Given the description of an element on the screen output the (x, y) to click on. 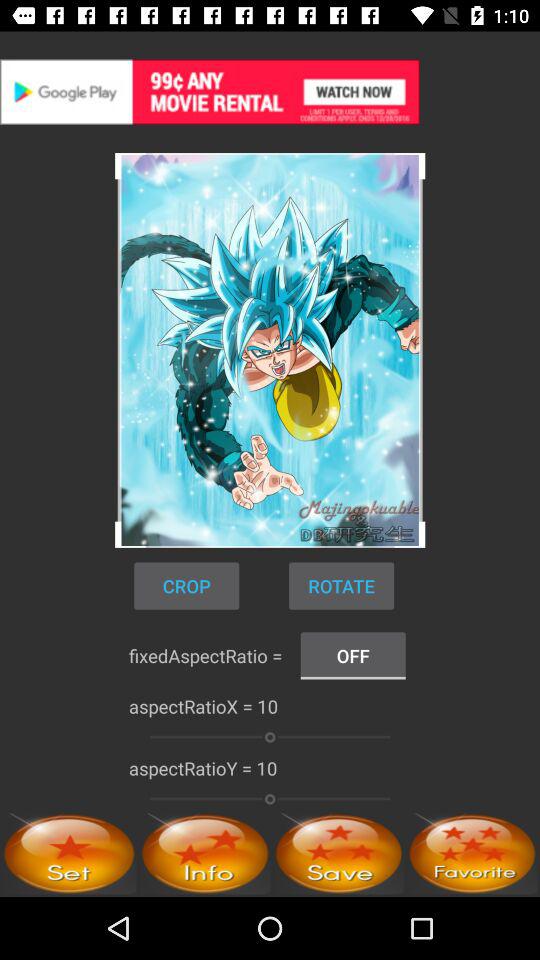
go to info (205, 853)
